Given the description of an element on the screen output the (x, y) to click on. 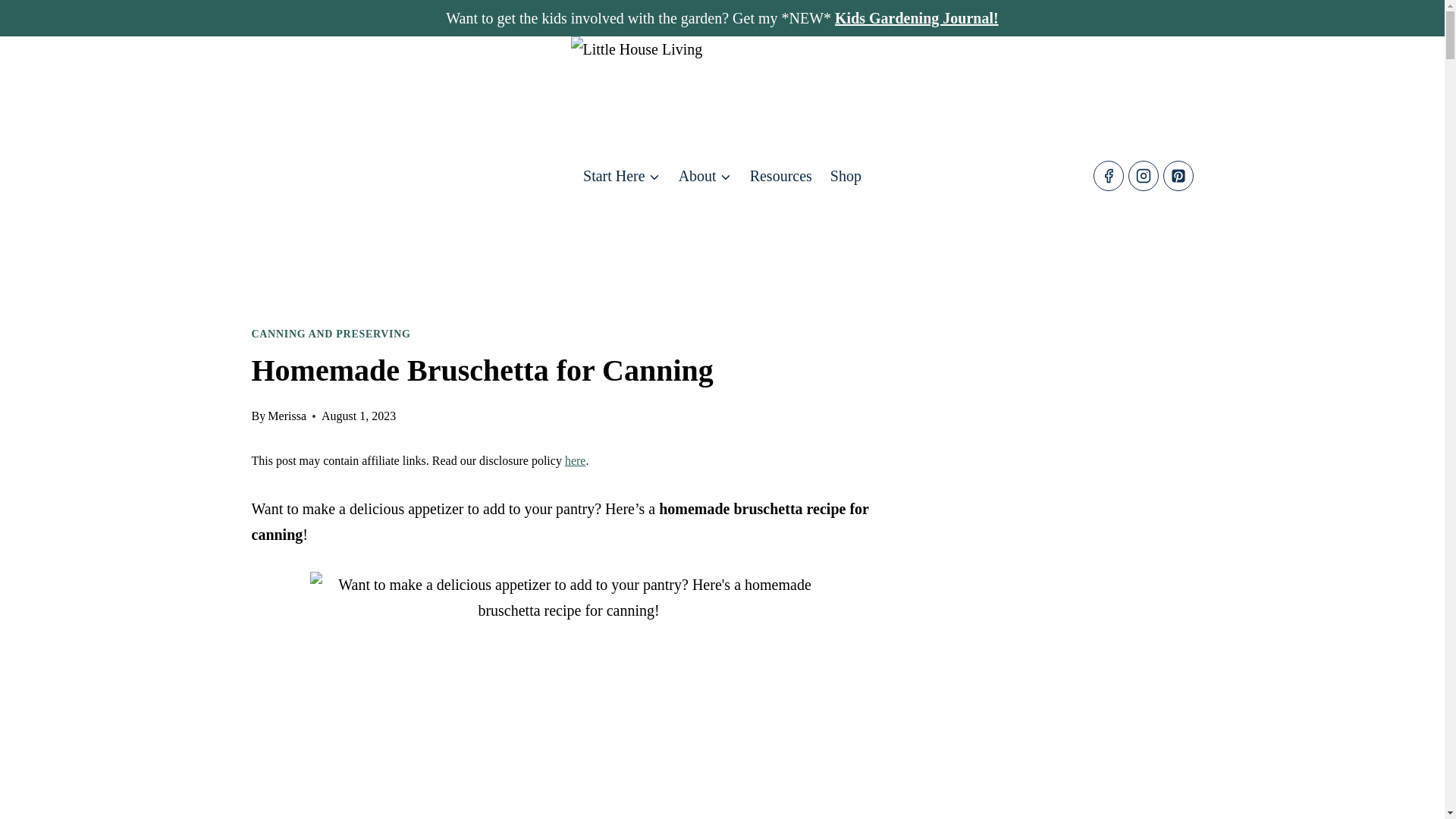
About (705, 175)
here (575, 460)
Resources (781, 175)
Start Here (621, 175)
Shop (845, 175)
Merissa (286, 415)
Kids Gardening Journal! (916, 17)
CANNING AND PRESERVING (330, 333)
